Given the description of an element on the screen output the (x, y) to click on. 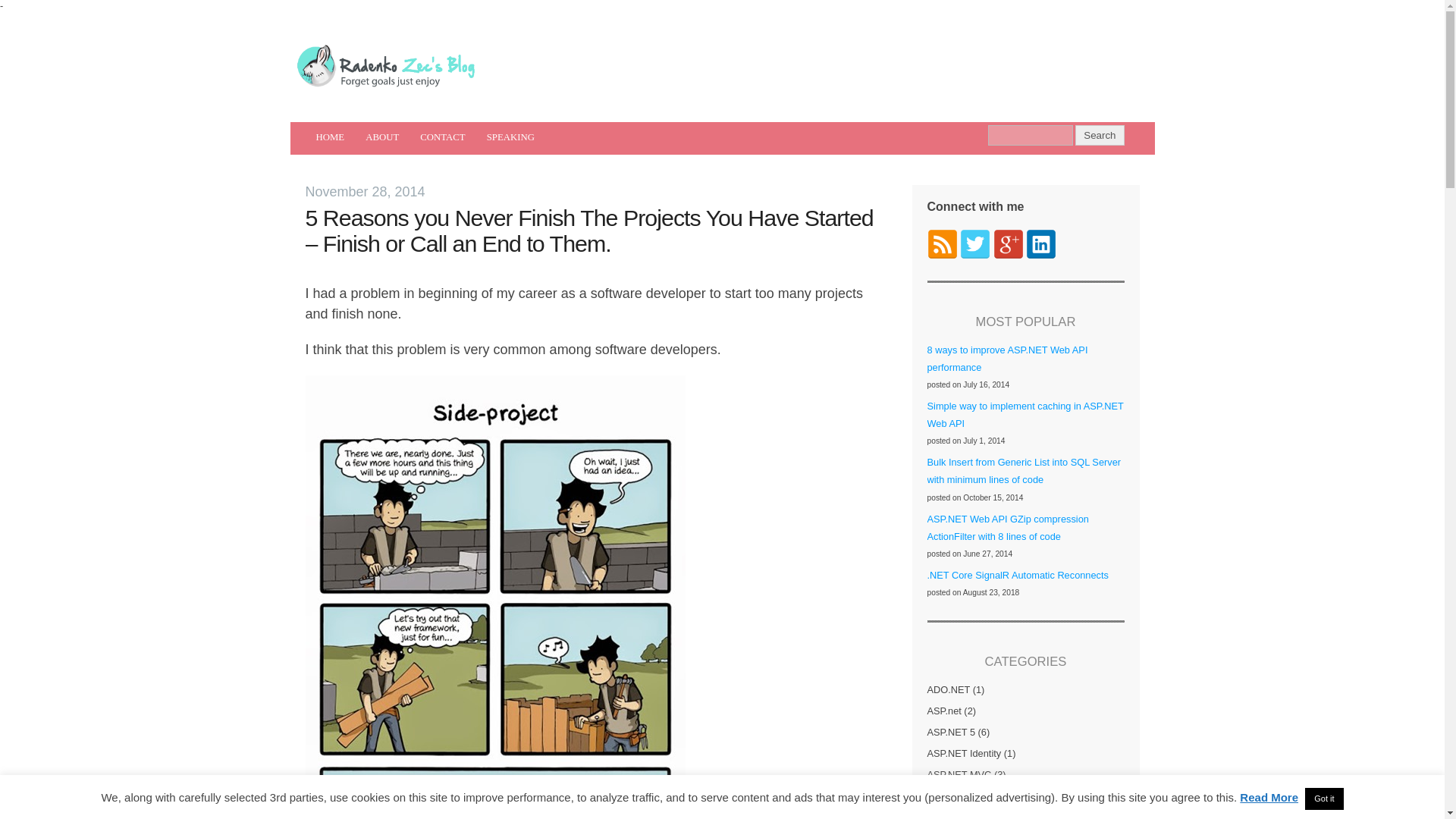
ASP.NET Web API (966, 795)
ASP.net (943, 710)
SPEAKING (510, 136)
Search (1099, 134)
Search (1099, 134)
AureliaJs (946, 815)
.NET Core SignalR Automatic Reconnects (1017, 574)
HOME (329, 136)
RadenkoZec blog (384, 65)
ASP.NET MVC (958, 774)
Search (1030, 134)
ADO.NET (947, 689)
Simple way to implement caching in ASP.NET Web API (1024, 414)
ABOUT (382, 136)
